Given the description of an element on the screen output the (x, y) to click on. 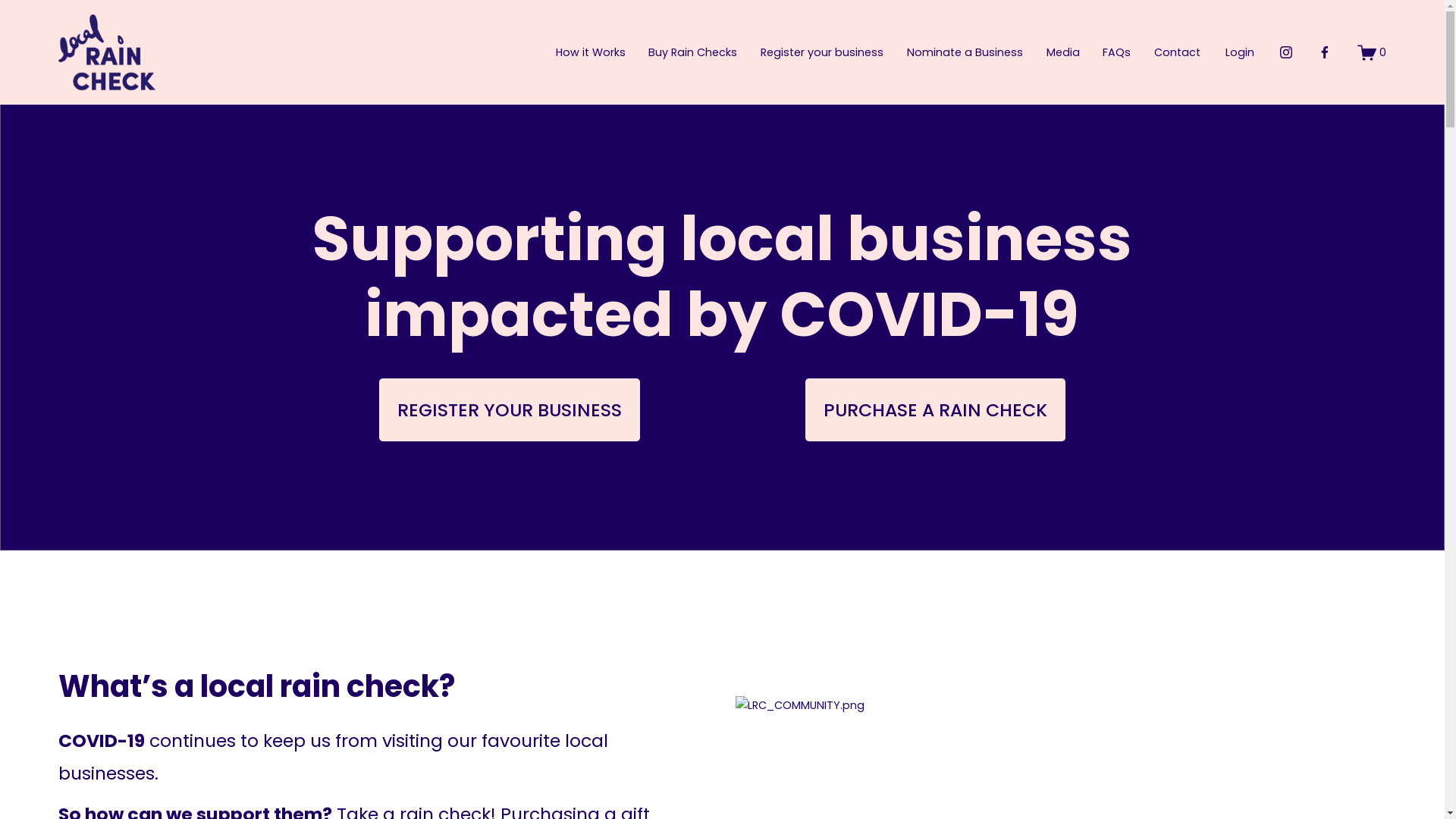
Login Element type: text (1239, 52)
Contact Element type: text (1177, 52)
Buy Rain Checks Element type: text (692, 52)
0 Element type: text (1371, 52)
Register your business Element type: text (821, 52)
PURCHASE A RAIN CHECK Element type: text (935, 409)
How it Works Element type: text (590, 52)
REGISTER YOUR BUSINESS Element type: text (509, 409)
Media Element type: text (1062, 52)
Nominate a Business Element type: text (964, 52)
FAQs Element type: text (1116, 52)
